Given the description of an element on the screen output the (x, y) to click on. 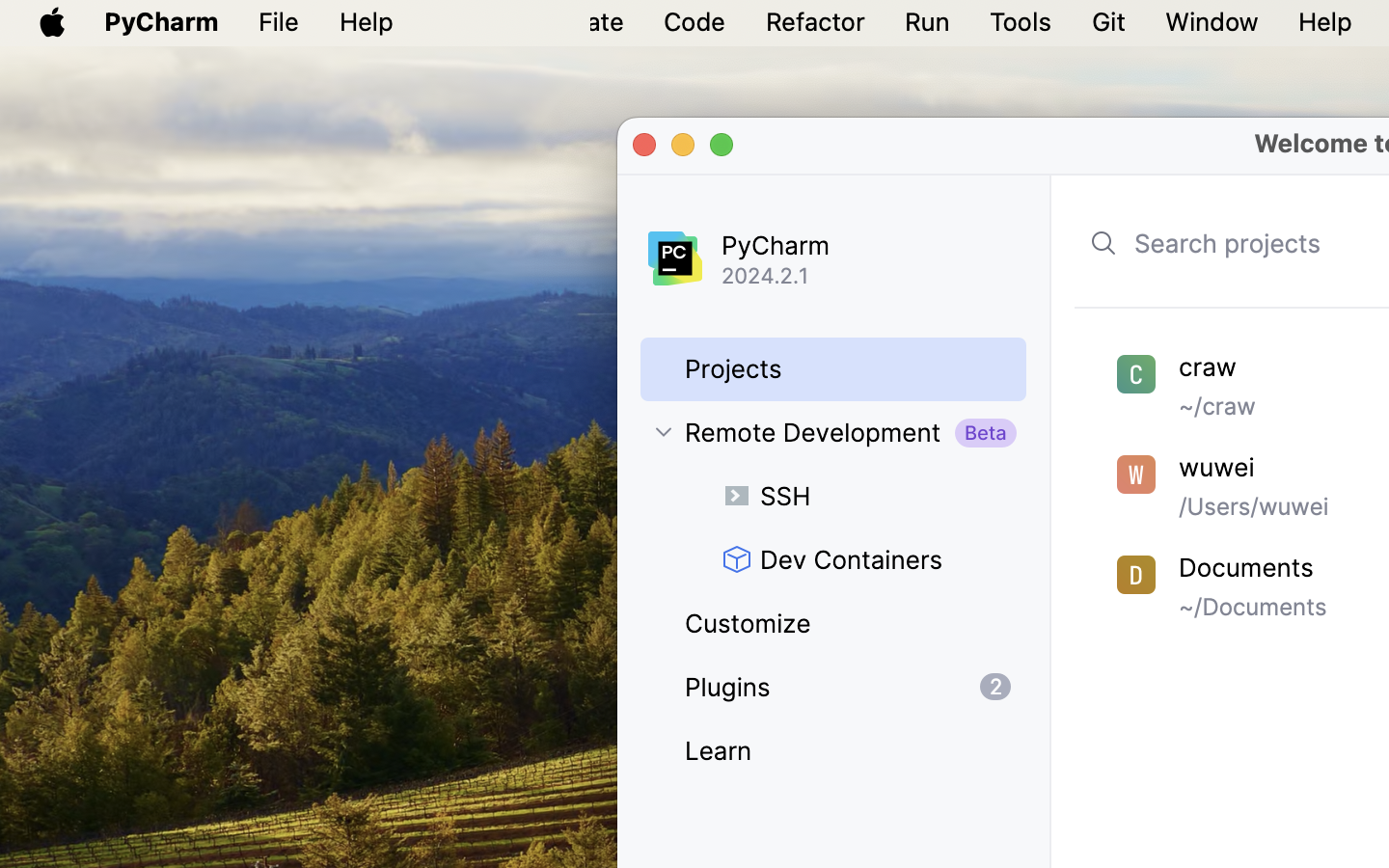
PyCharm Element type: AXStaticText (860, 245)
2024.2.1 Element type: AXStaticText (875, 275)
